Given the description of an element on the screen output the (x, y) to click on. 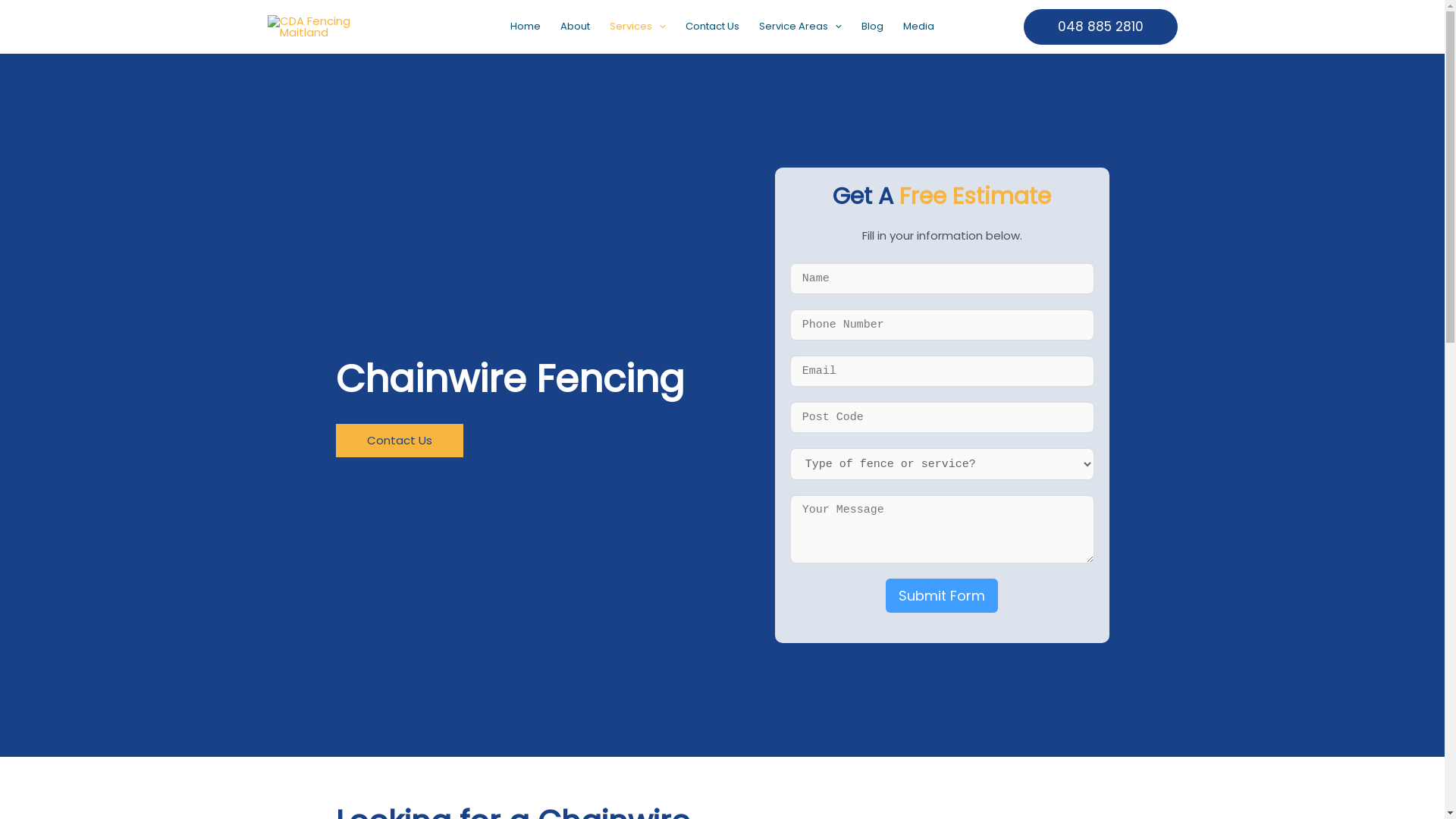
048 885 2810 Element type: text (1100, 26)
Media Element type: text (918, 26)
About Element type: text (574, 26)
Home Element type: text (525, 26)
Contact Us Element type: text (398, 440)
Services Element type: text (637, 26)
Service Areas Element type: text (800, 26)
Submit Form Element type: text (941, 594)
Blog Element type: text (872, 26)
Contact Us Element type: text (712, 26)
